Given the description of an element on the screen output the (x, y) to click on. 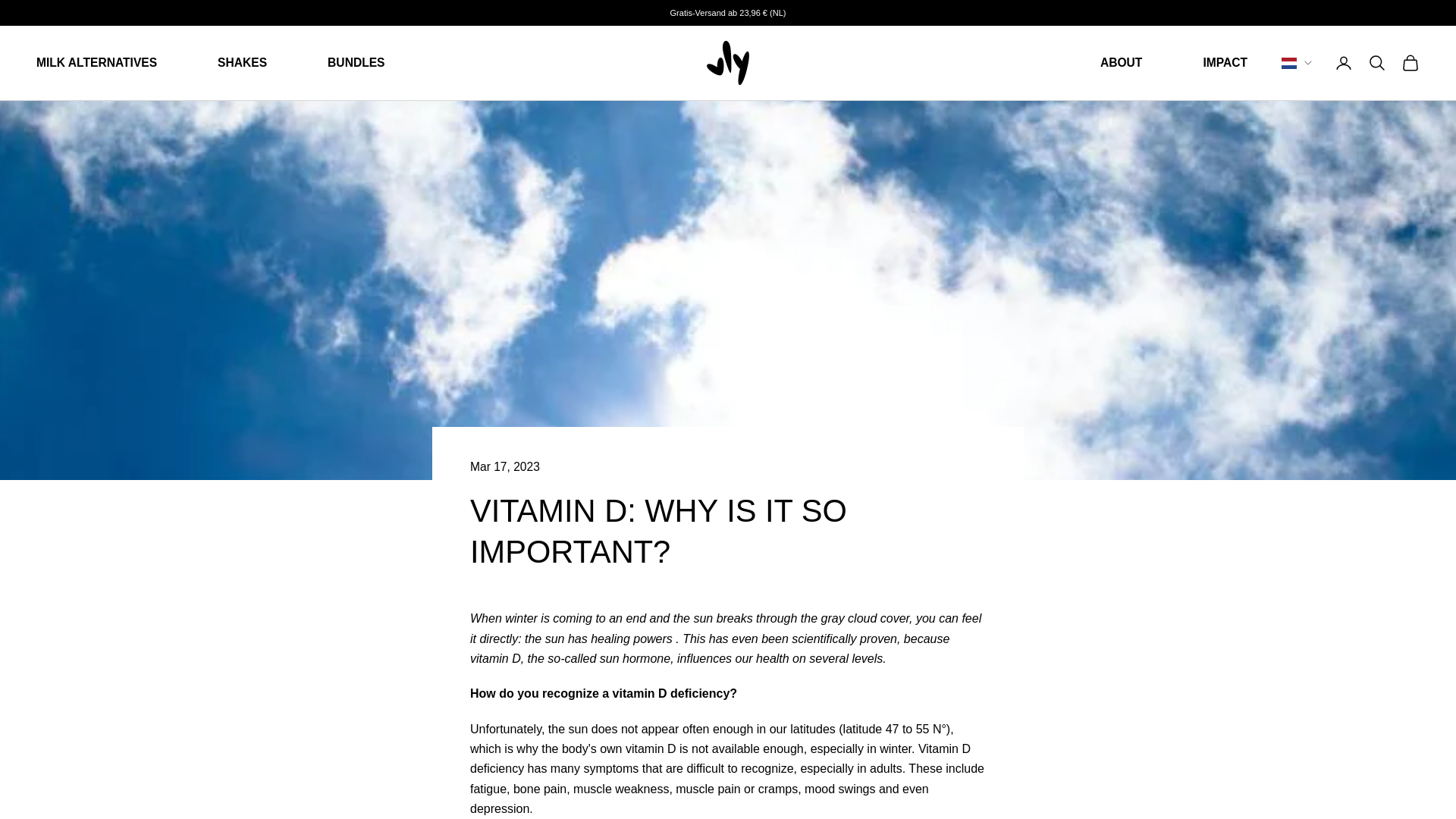
MILK ALTERNATIVES (96, 63)
SHAKES (241, 63)
IMPACT (1224, 63)
Open cart (1409, 63)
Open search (1377, 63)
Open account page (1343, 63)
BUNDLES (355, 63)
ABOUT (1120, 63)
vly (727, 62)
